Given the description of an element on the screen output the (x, y) to click on. 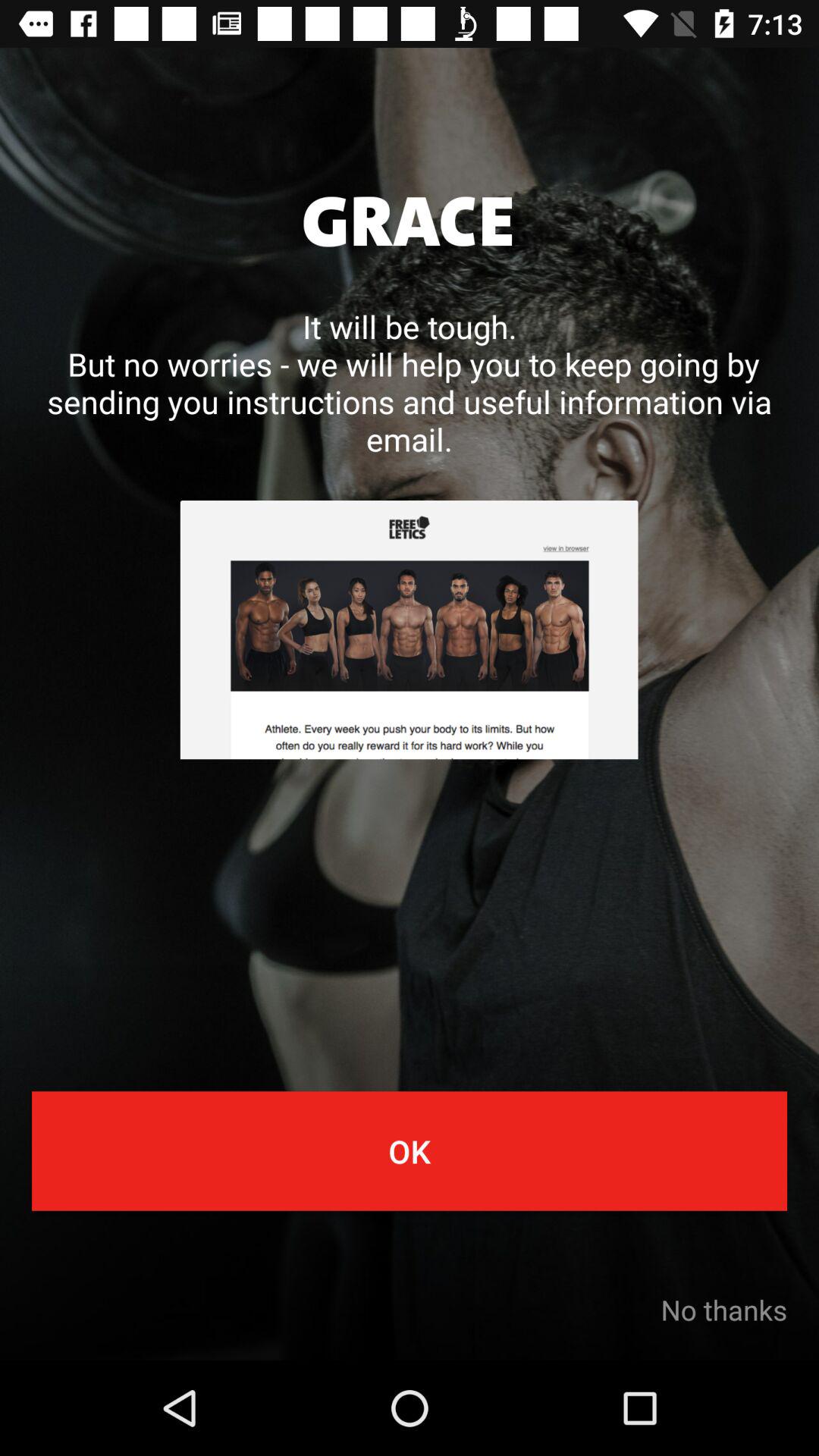
select ok item (409, 1150)
